Given the description of an element on the screen output the (x, y) to click on. 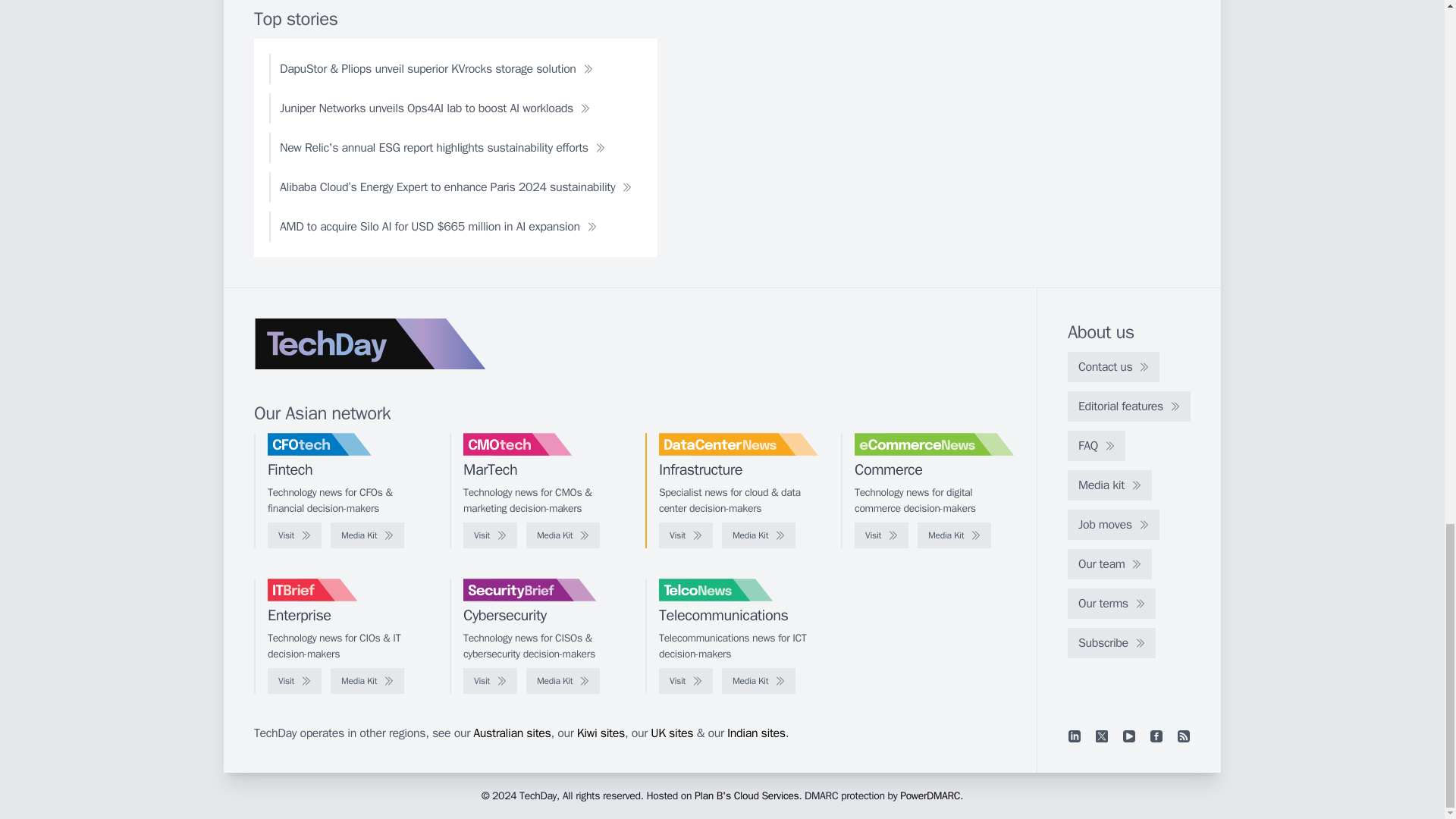
Visit (294, 534)
Media Kit (954, 534)
Visit (489, 534)
Visit (686, 534)
Media Kit (562, 534)
Juniper Networks unveils Ops4AI lab to boost AI workloads (434, 108)
Visit (881, 534)
Media Kit (758, 534)
Media Kit (367, 534)
